Given the description of an element on the screen output the (x, y) to click on. 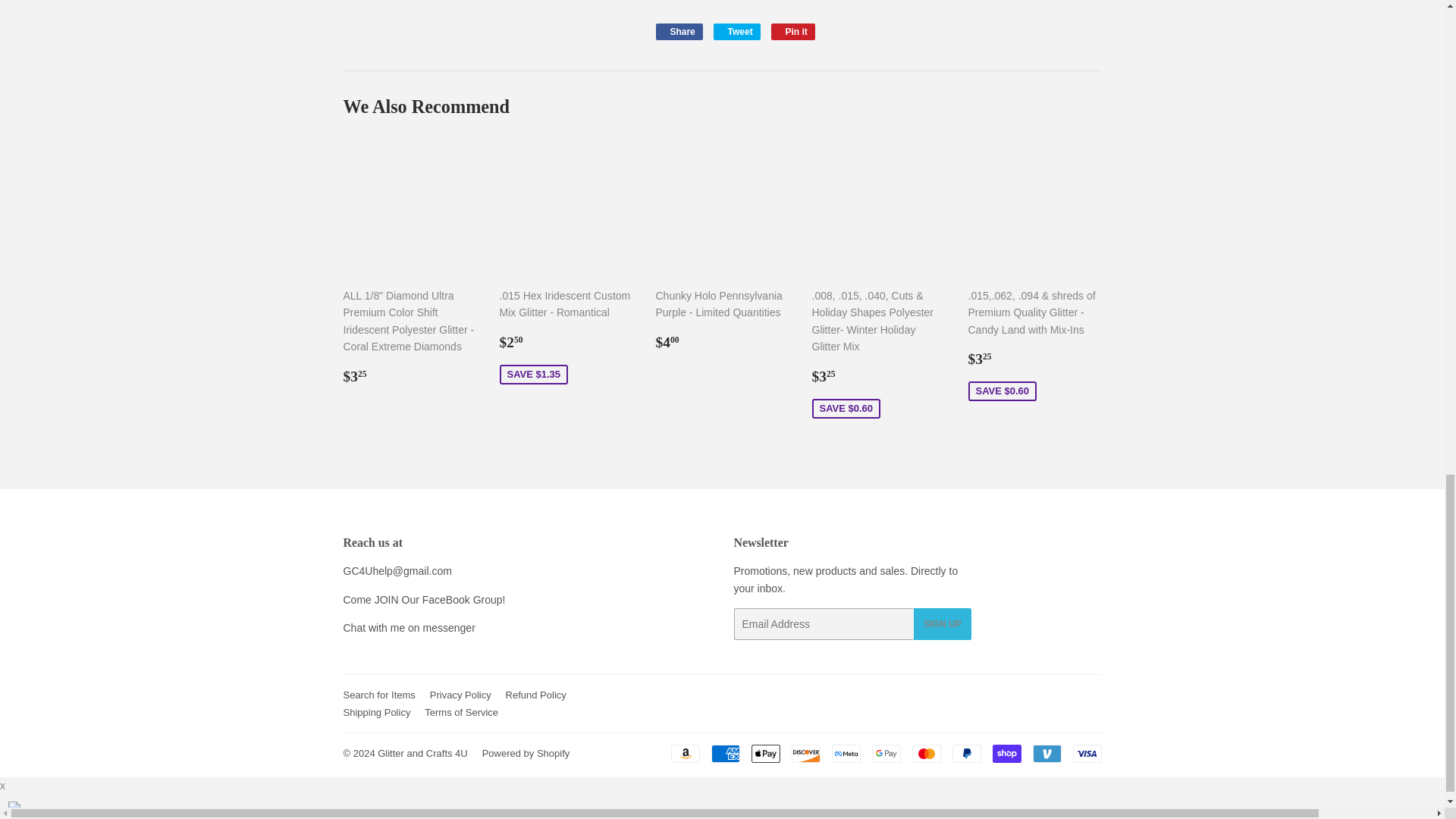
Shop Pay (1005, 753)
PayPal (966, 753)
Visa (1085, 753)
Mastercard (925, 753)
Venmo (1046, 753)
Meta Pay (845, 753)
Amazon (683, 753)
Discover (806, 753)
Apple Pay (764, 753)
Share on Facebook (678, 31)
Pin on Pinterest (793, 31)
Tweet on Twitter (736, 31)
American Express (725, 753)
Google Pay (886, 753)
